Given the description of an element on the screen output the (x, y) to click on. 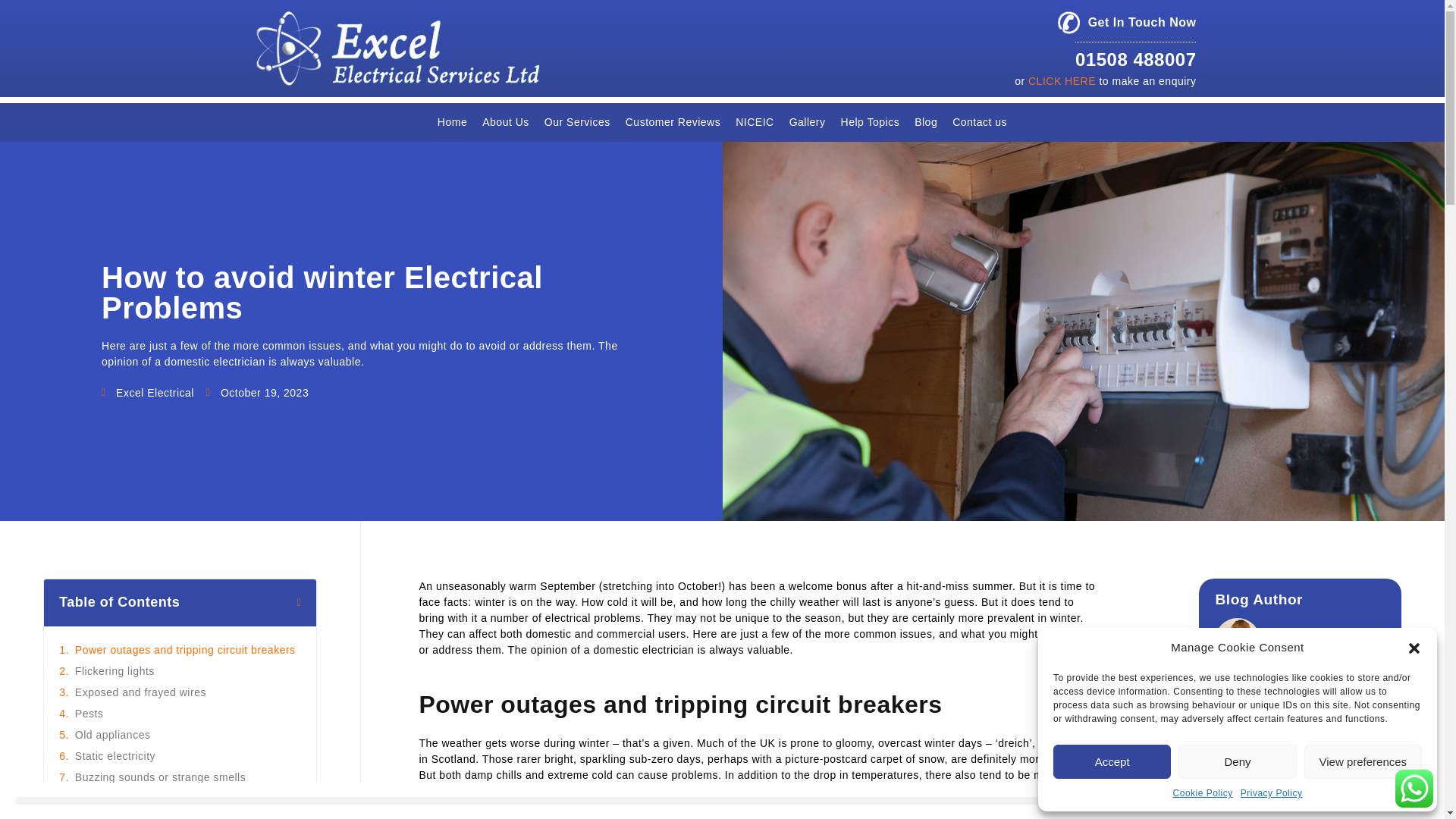
View preferences (1363, 761)
Privacy Policy (1271, 793)
CLICK HERE (1061, 80)
Our Services (577, 122)
Cookie Policy (1203, 793)
Customer Reviews (672, 122)
Deny (1236, 761)
NICEIC (754, 122)
Accept (1111, 761)
Get In Touch Now 01508 488007 (1127, 42)
About Us (505, 122)
Blog (925, 122)
Gallery (806, 122)
Home (451, 122)
Help Topics (869, 122)
